Given the description of an element on the screen output the (x, y) to click on. 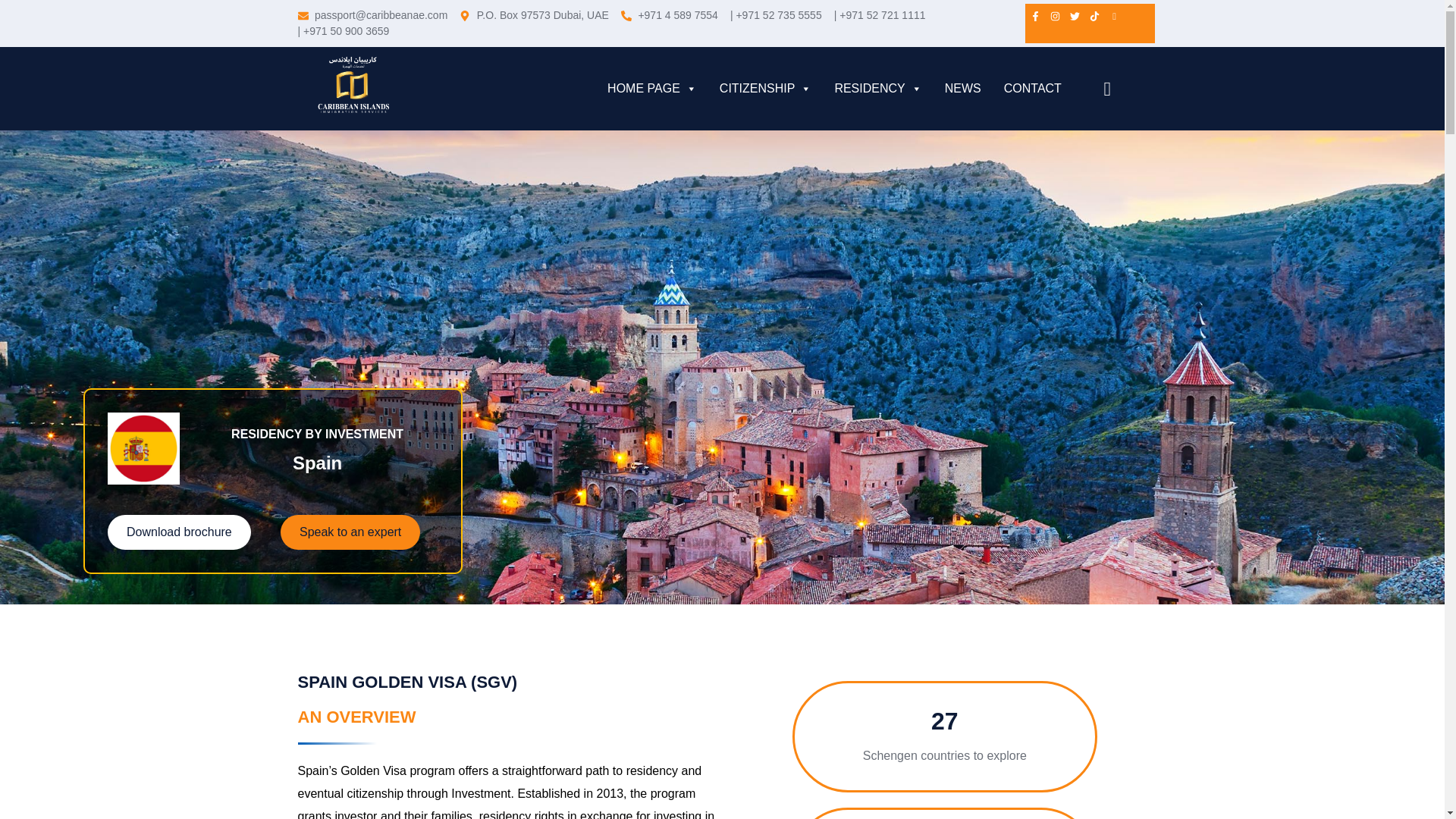
RESIDENCY (877, 88)
Download brochure (178, 532)
Speak to an expert (350, 532)
CONTACT (1031, 88)
HOME PAGE (651, 88)
NEWS (962, 88)
CITIZENSHIP (765, 88)
